Given the description of an element on the screen output the (x, y) to click on. 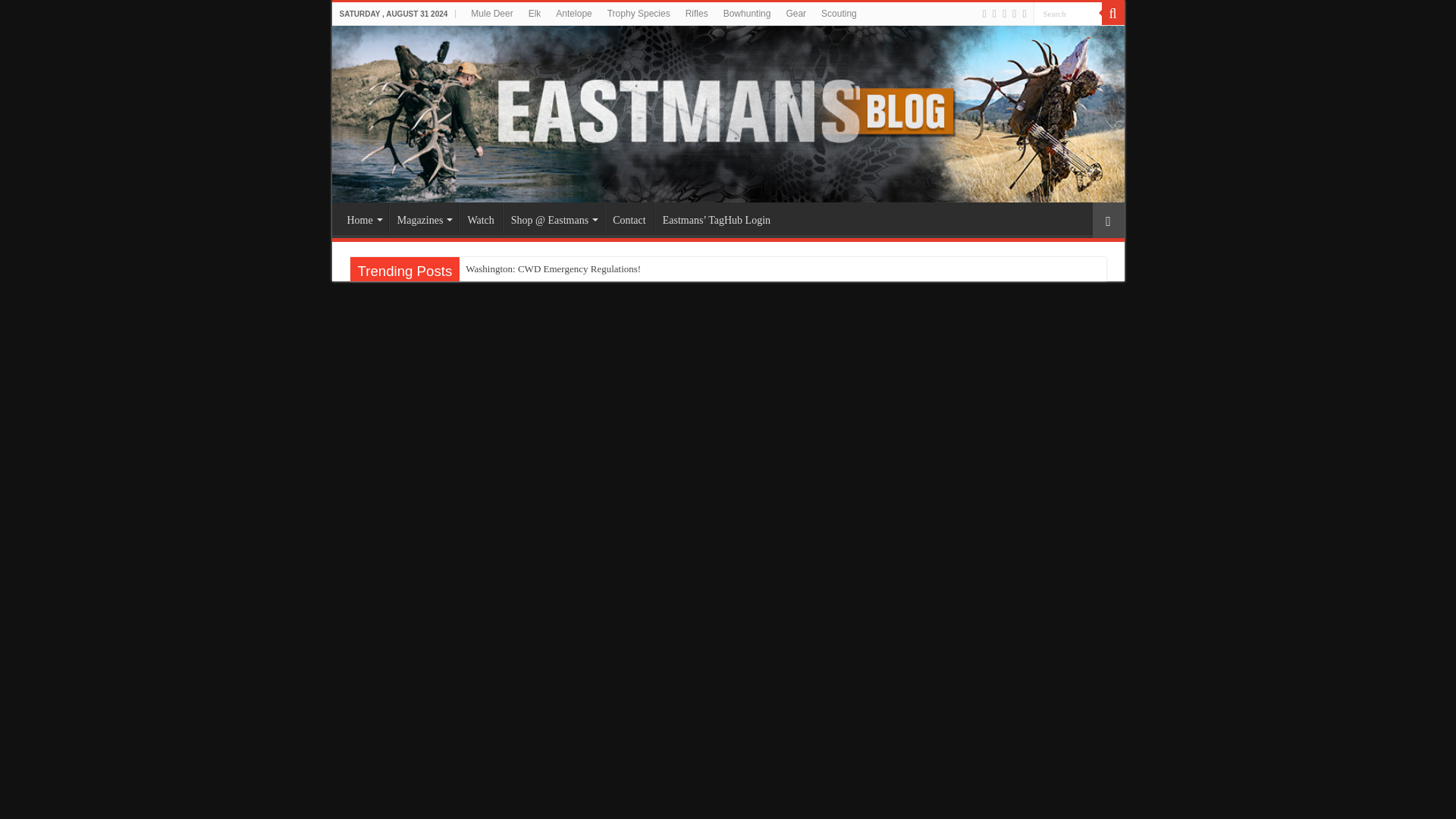
Scouting (838, 13)
Bowhunting (747, 13)
Search (1066, 13)
Magazines (423, 218)
Watch (479, 218)
Contact (628, 218)
Search (1112, 13)
Mule Deer (491, 13)
Elk (534, 13)
Search (1066, 13)
